Given the description of an element on the screen output the (x, y) to click on. 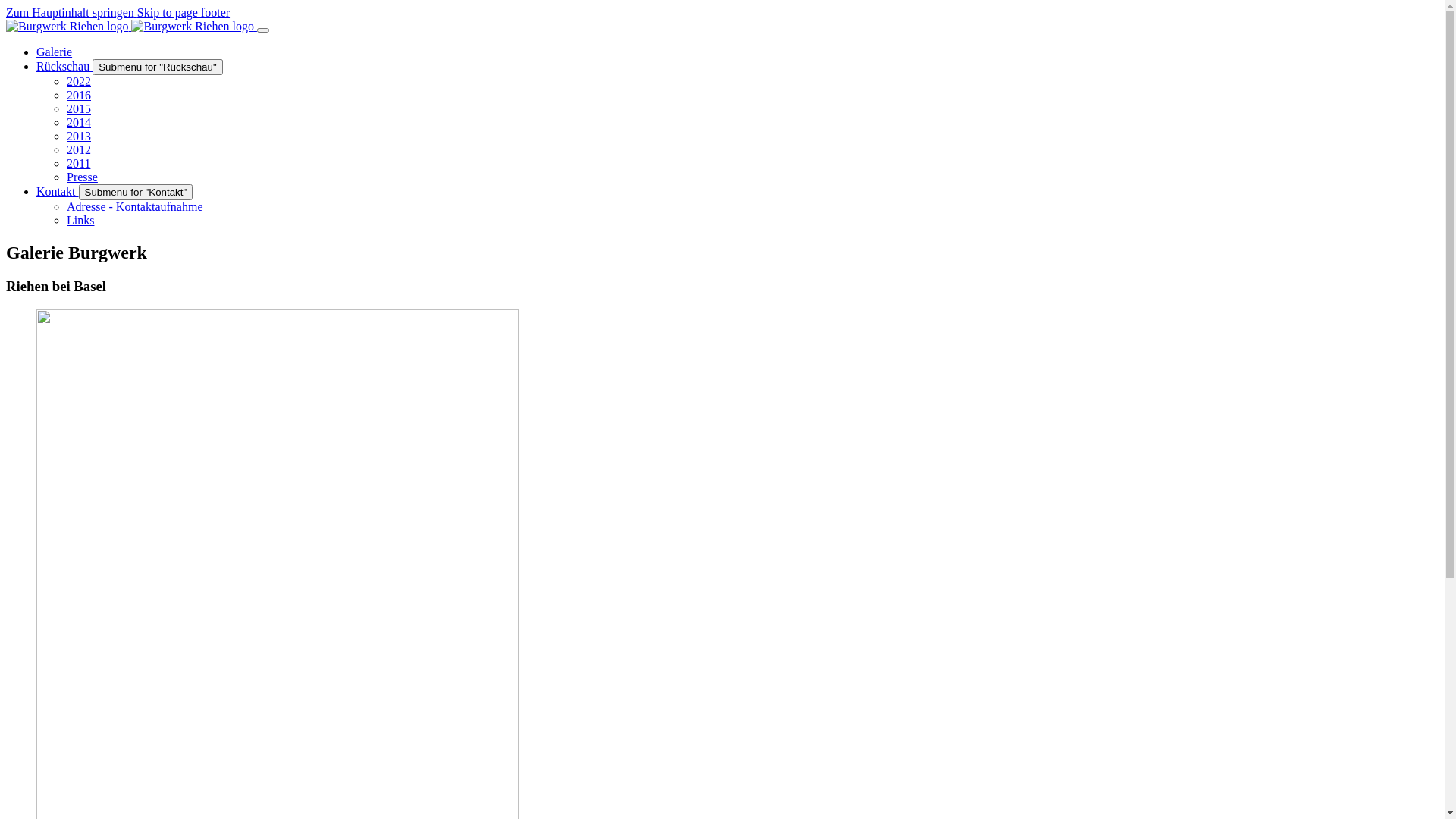
2013 Element type: text (78, 135)
Skip to page footer Element type: text (183, 12)
2011 Element type: text (78, 162)
2012 Element type: text (78, 149)
Presse Element type: text (81, 176)
2014 Element type: text (78, 122)
Adresse - Kontaktaufnahme Element type: text (134, 206)
Links Element type: text (80, 219)
Galerie Element type: text (54, 51)
2015 Element type: text (78, 108)
Zum Hauptinhalt springen Element type: text (71, 12)
Submenu for "Kontakt" Element type: text (135, 192)
2022 Element type: text (78, 81)
2016 Element type: text (78, 94)
Kontakt Element type: text (57, 191)
